Given the description of an element on the screen output the (x, y) to click on. 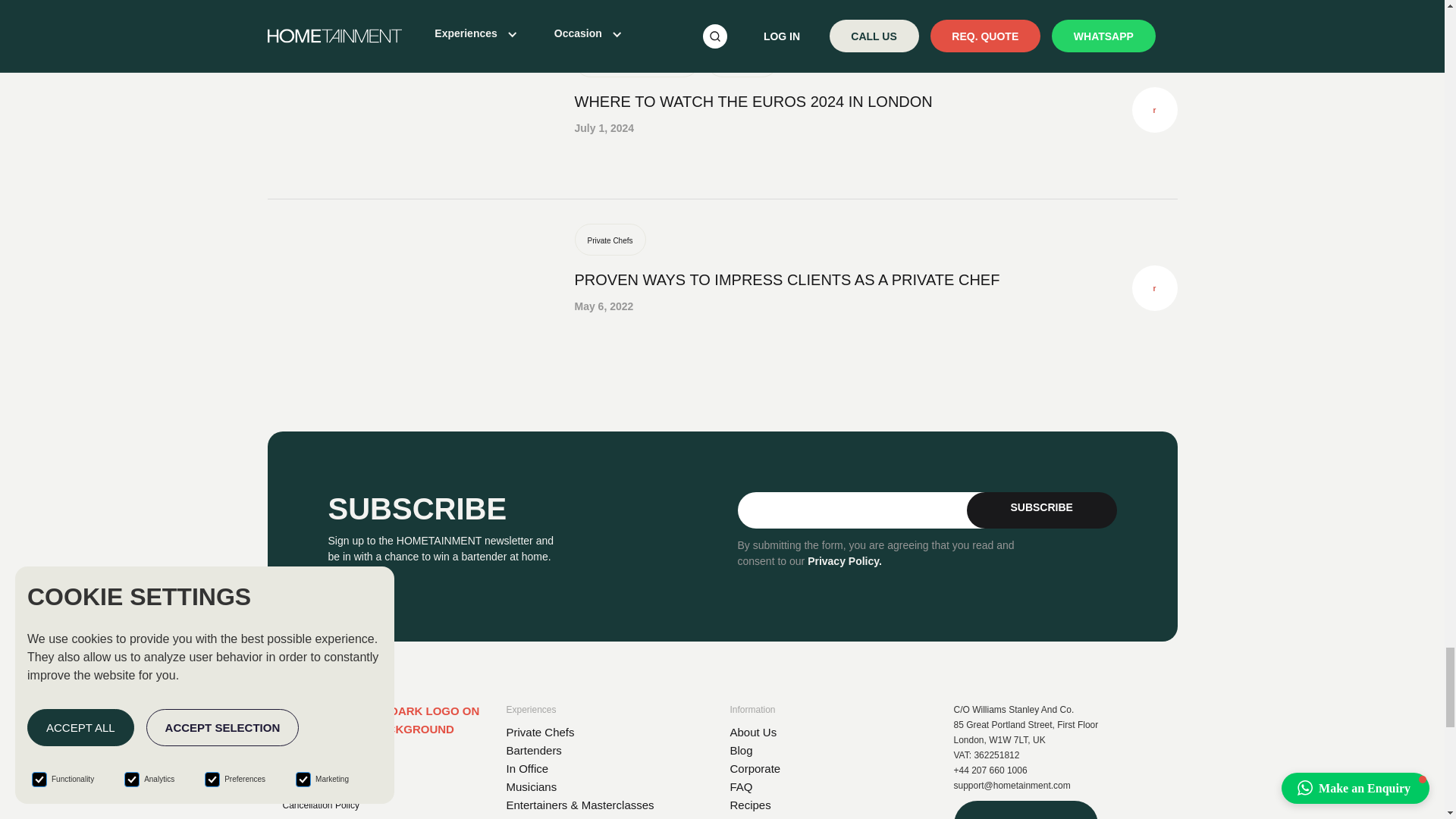
Subscribe (1041, 510)
Subscribe (1041, 510)
